Given the description of an element on the screen output the (x, y) to click on. 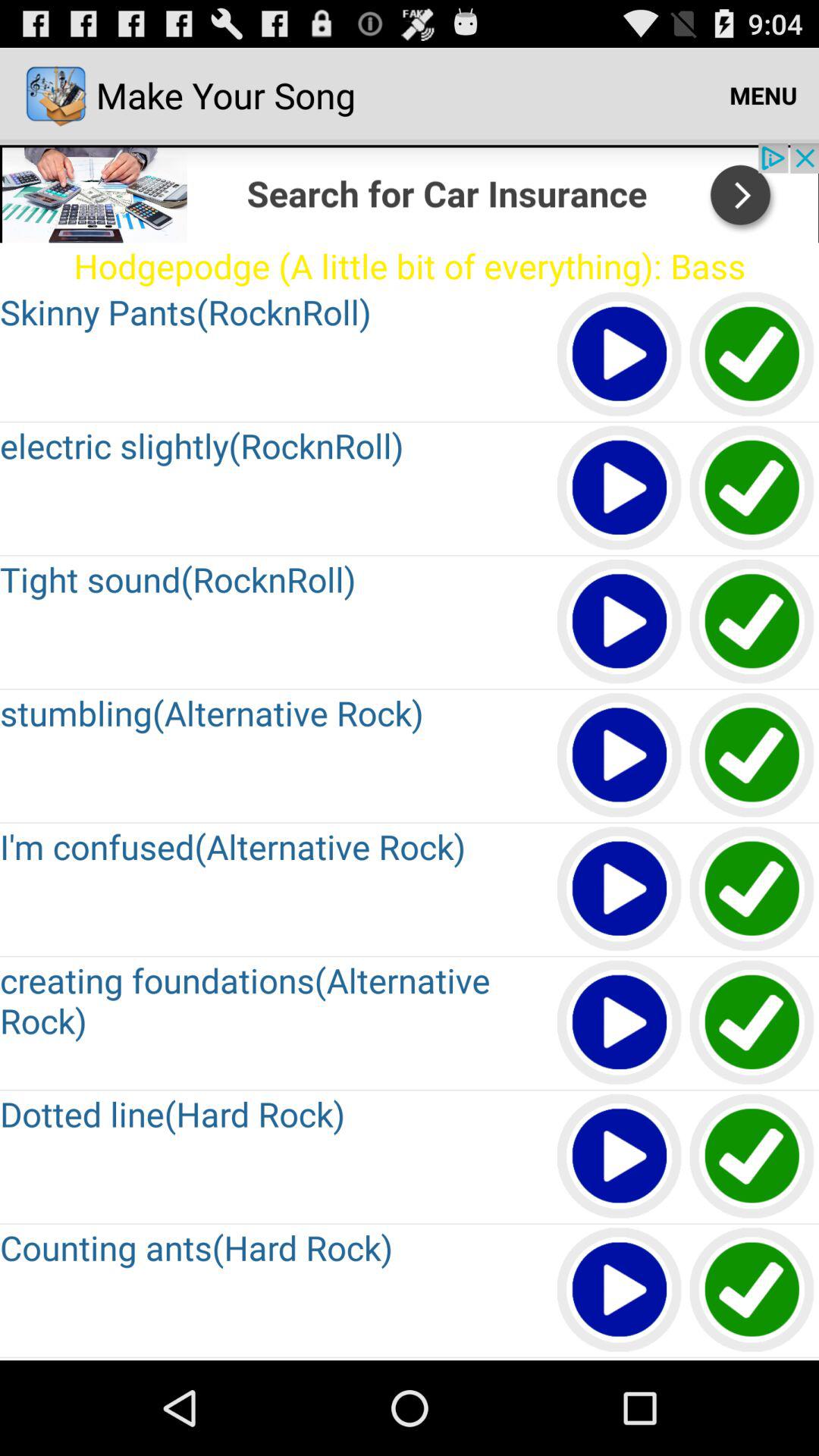
click search (409, 192)
